Given the description of an element on the screen output the (x, y) to click on. 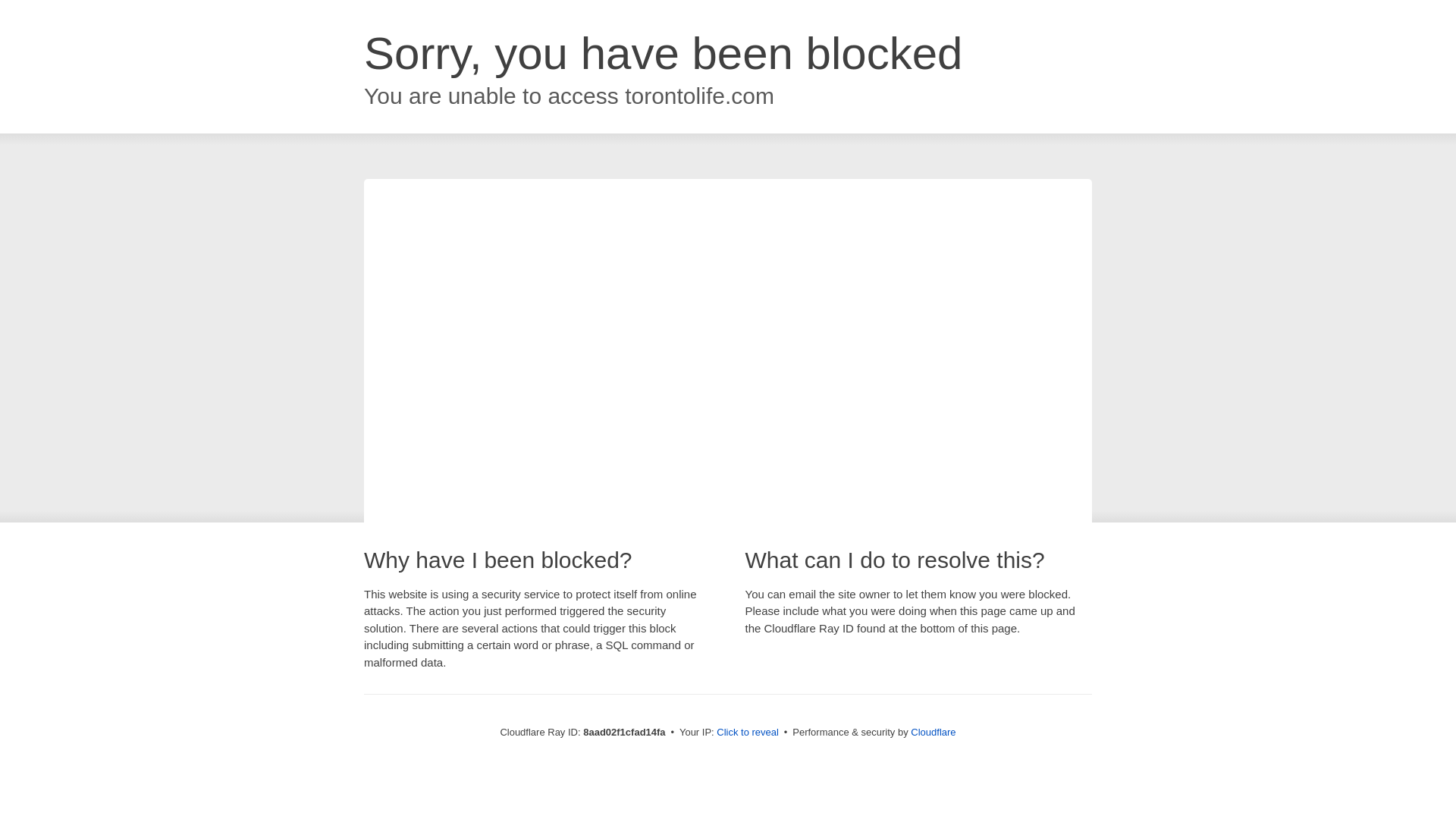
Click to reveal (747, 732)
Cloudflare (933, 731)
